Given the description of an element on the screen output the (x, y) to click on. 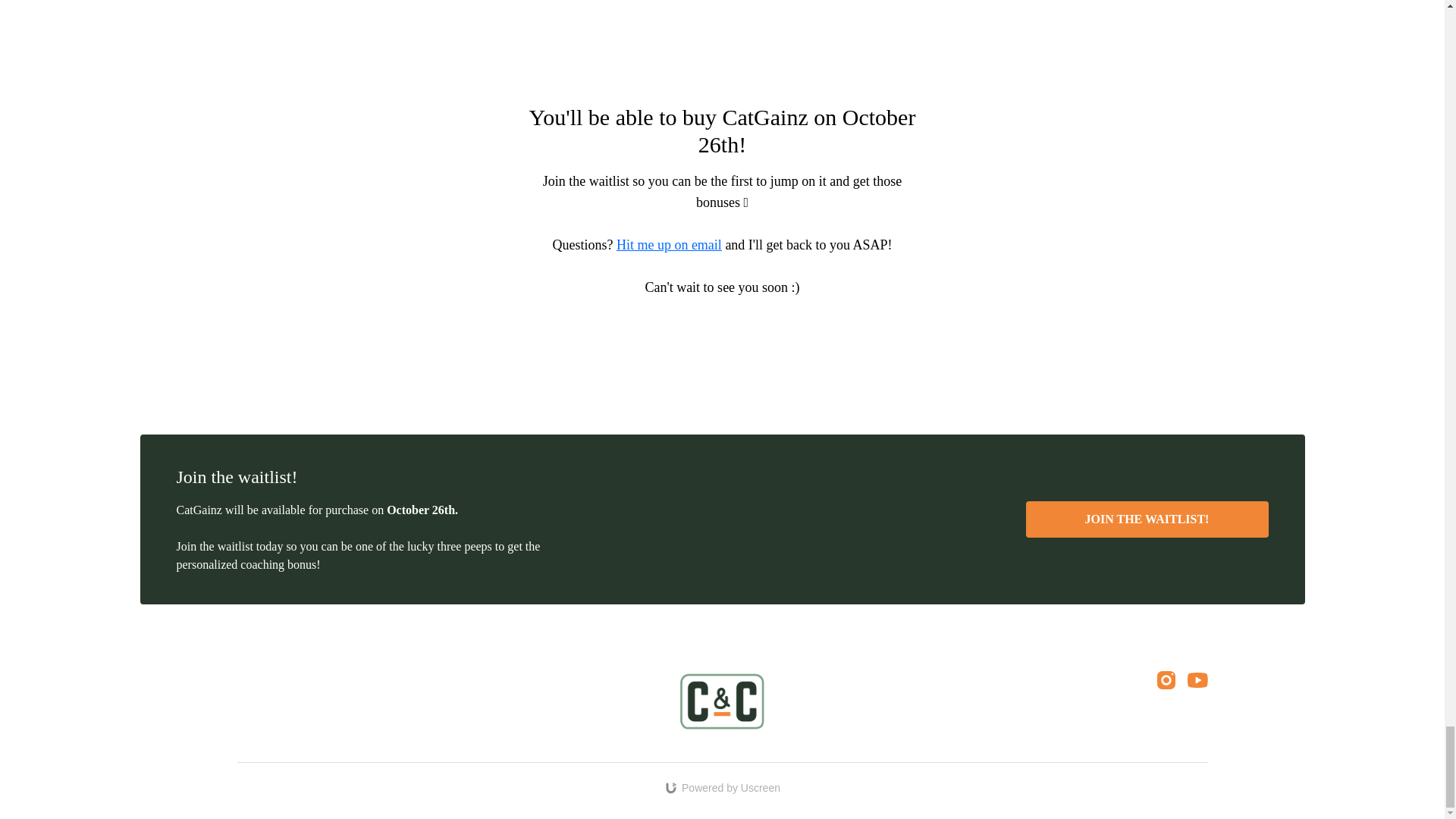
Hit me up on email (668, 244)
JOIN THE WAITLIST! (1146, 519)
Powered by Uscreen (721, 787)
